Given the description of an element on the screen output the (x, y) to click on. 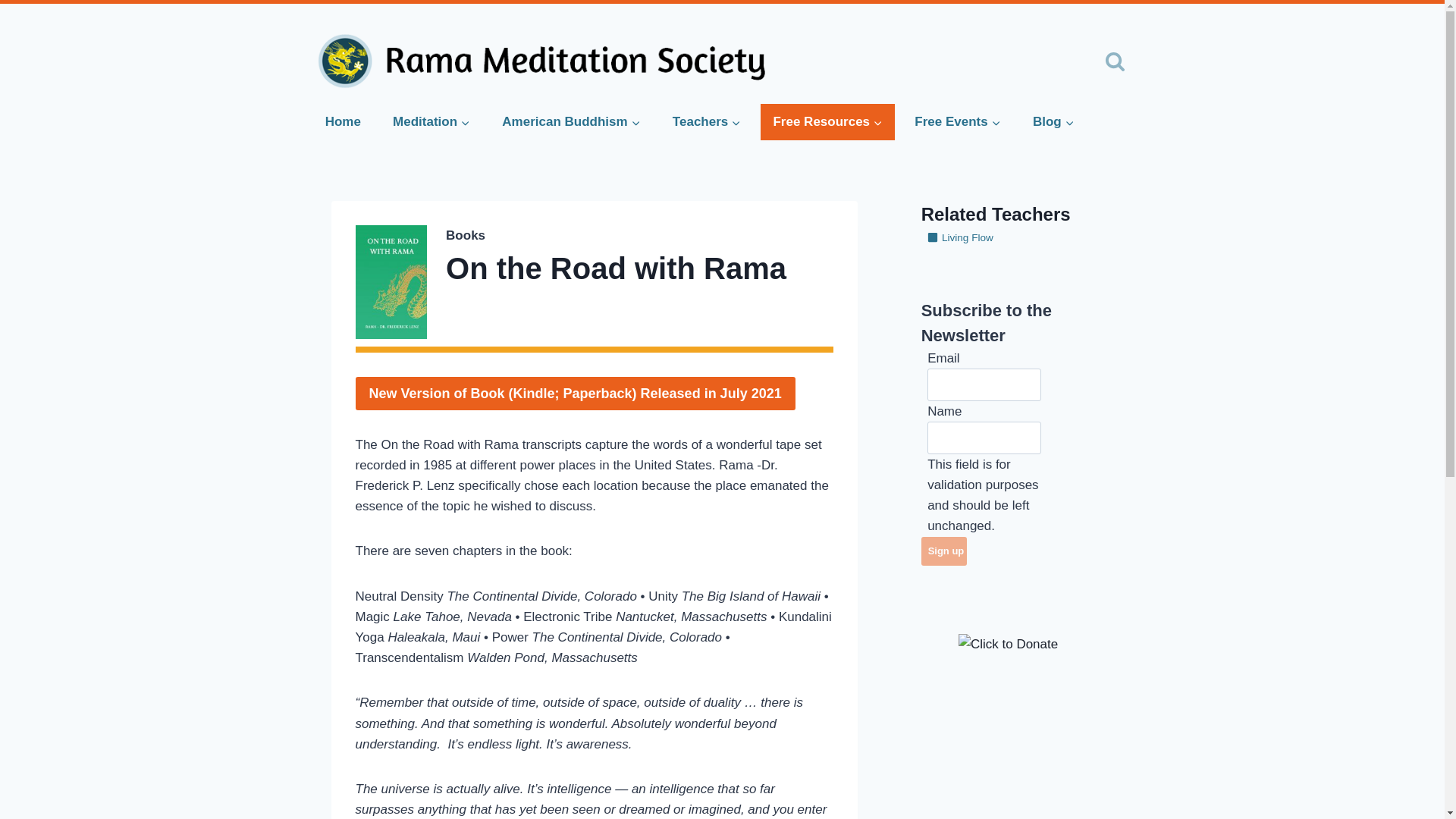
Meditation (430, 122)
Sign up (943, 551)
Books (464, 235)
Teachers (707, 122)
Free Resources (827, 122)
Blog (1053, 122)
Free Events (957, 122)
American Buddhism (570, 122)
Home (342, 122)
